Given the description of an element on the screen output the (x, y) to click on. 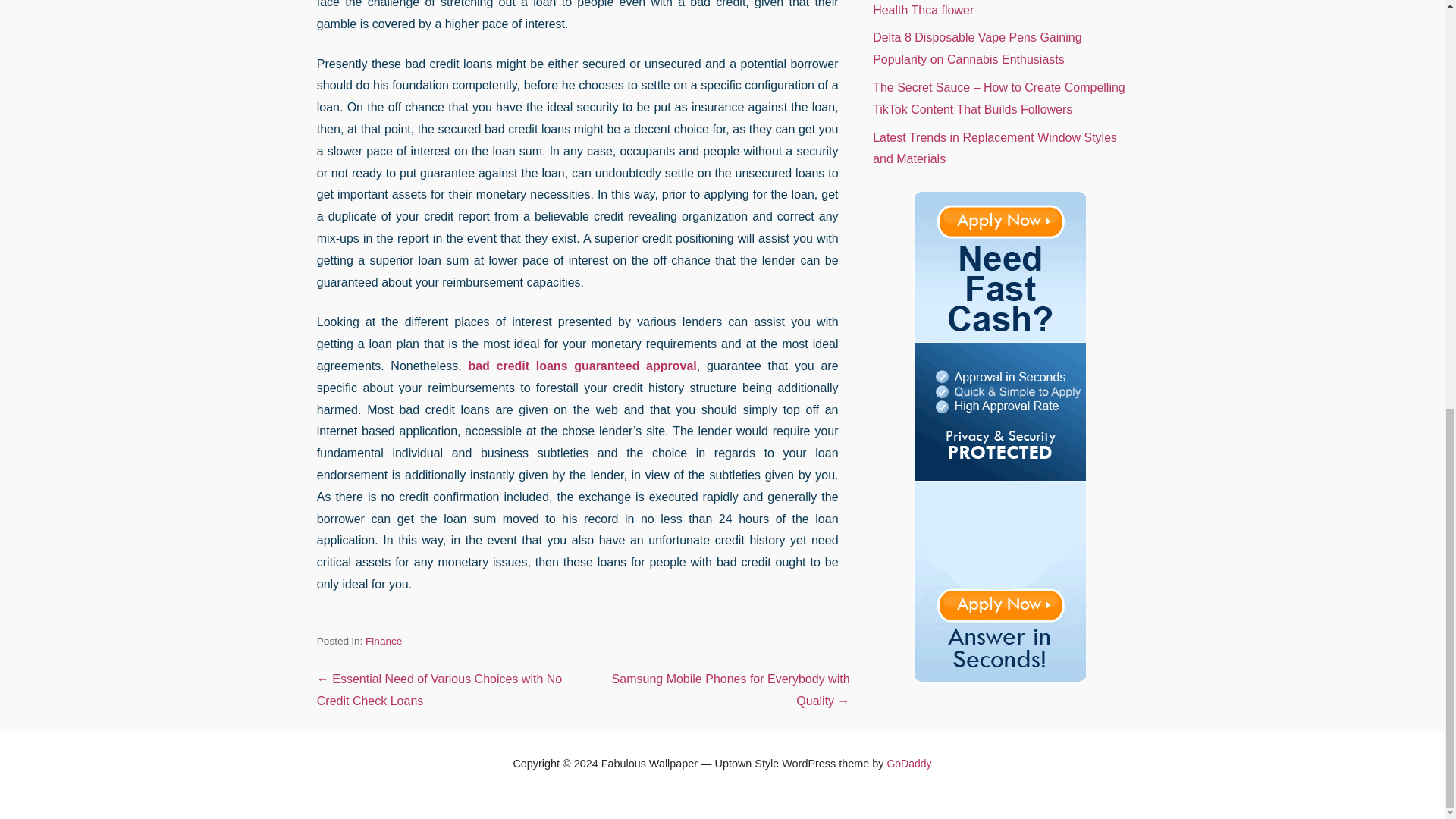
GoDaddy (908, 763)
Finance (383, 641)
bad credit loans guaranteed approval (581, 365)
Latest Trends in Replacement Window Styles and Materials (994, 148)
